Given the description of an element on the screen output the (x, y) to click on. 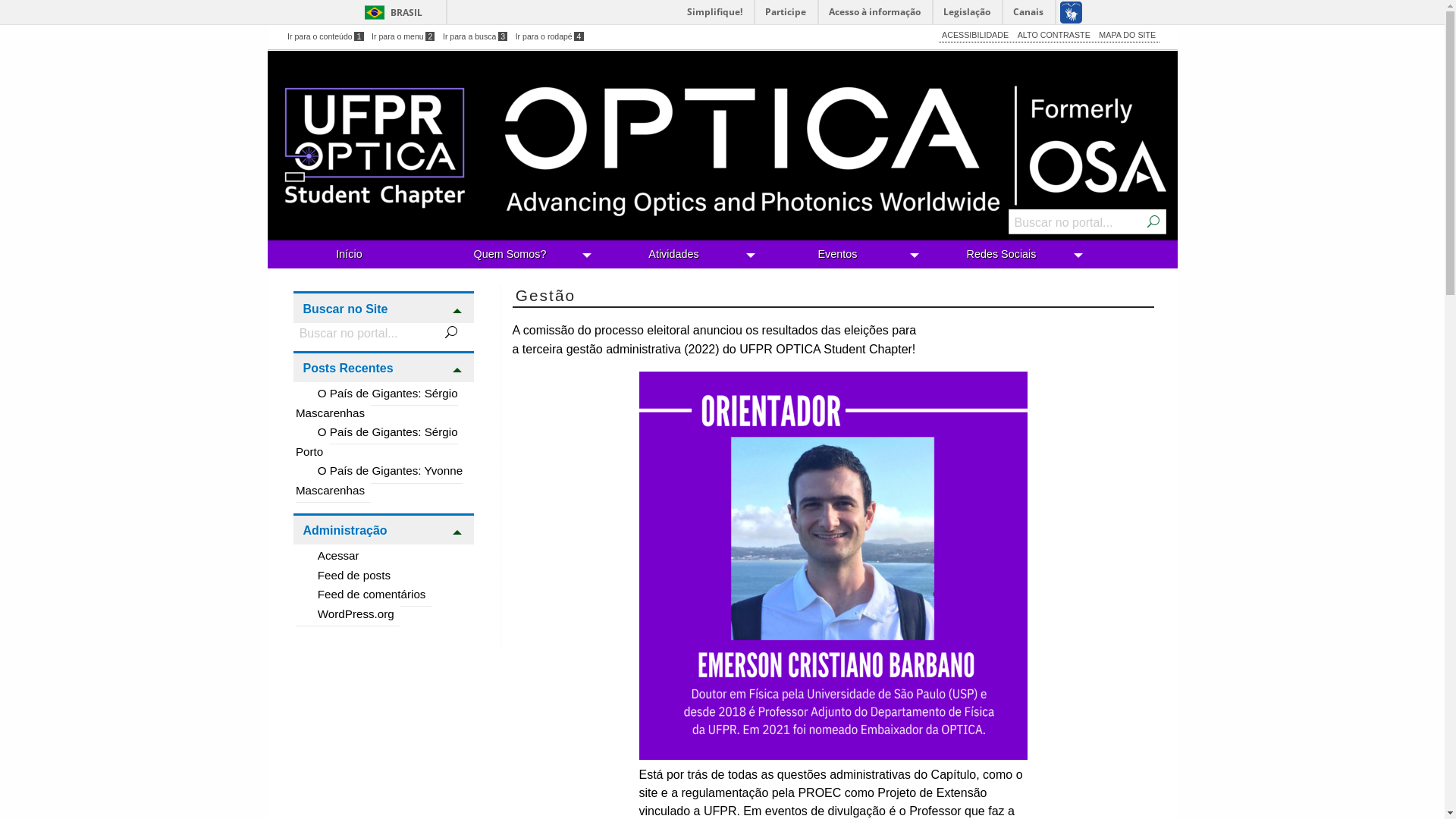
ALTO CONTRASTE Element type: text (1053, 34)
Feed de posts Element type: text (345, 574)
Ir para o menu2 Element type: text (403, 36)
MAPA DO SITE Element type: text (1126, 34)
Posts Recentes Element type: text (383, 366)
BRASIL Element type: text (389, 12)
ACESSIBILIDADE Element type: text (975, 34)
Quem Somos? Element type: text (512, 254)
Buscar no Site Element type: text (383, 306)
Atividades Element type: text (676, 254)
WordPress.org Element type: text (347, 613)
Acessar Element type: text (329, 554)
Redes Sociais Element type: text (1003, 254)
Eventos Element type: text (840, 254)
Ir para a busca3 Element type: text (475, 36)
